Given the description of an element on the screen output the (x, y) to click on. 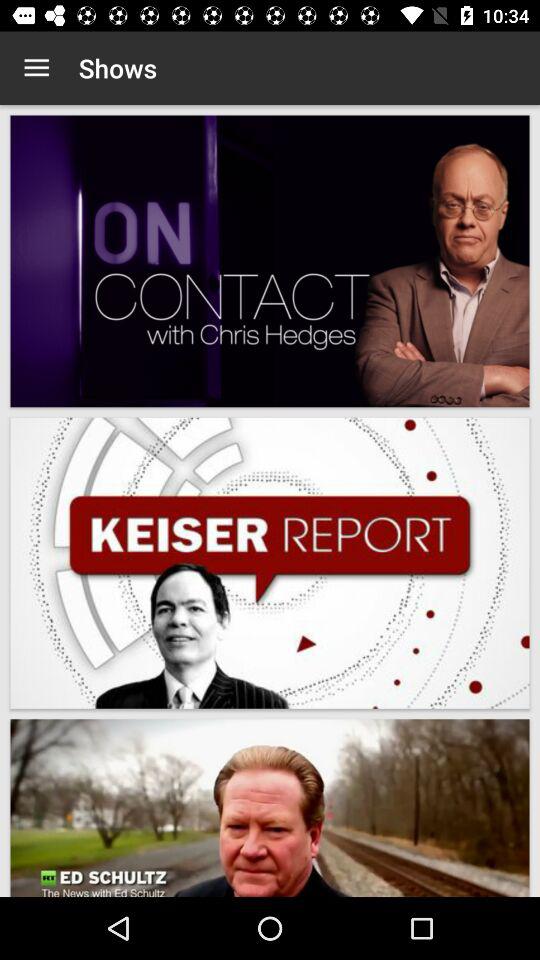
click item next to the shows (36, 68)
